Given the description of an element on the screen output the (x, y) to click on. 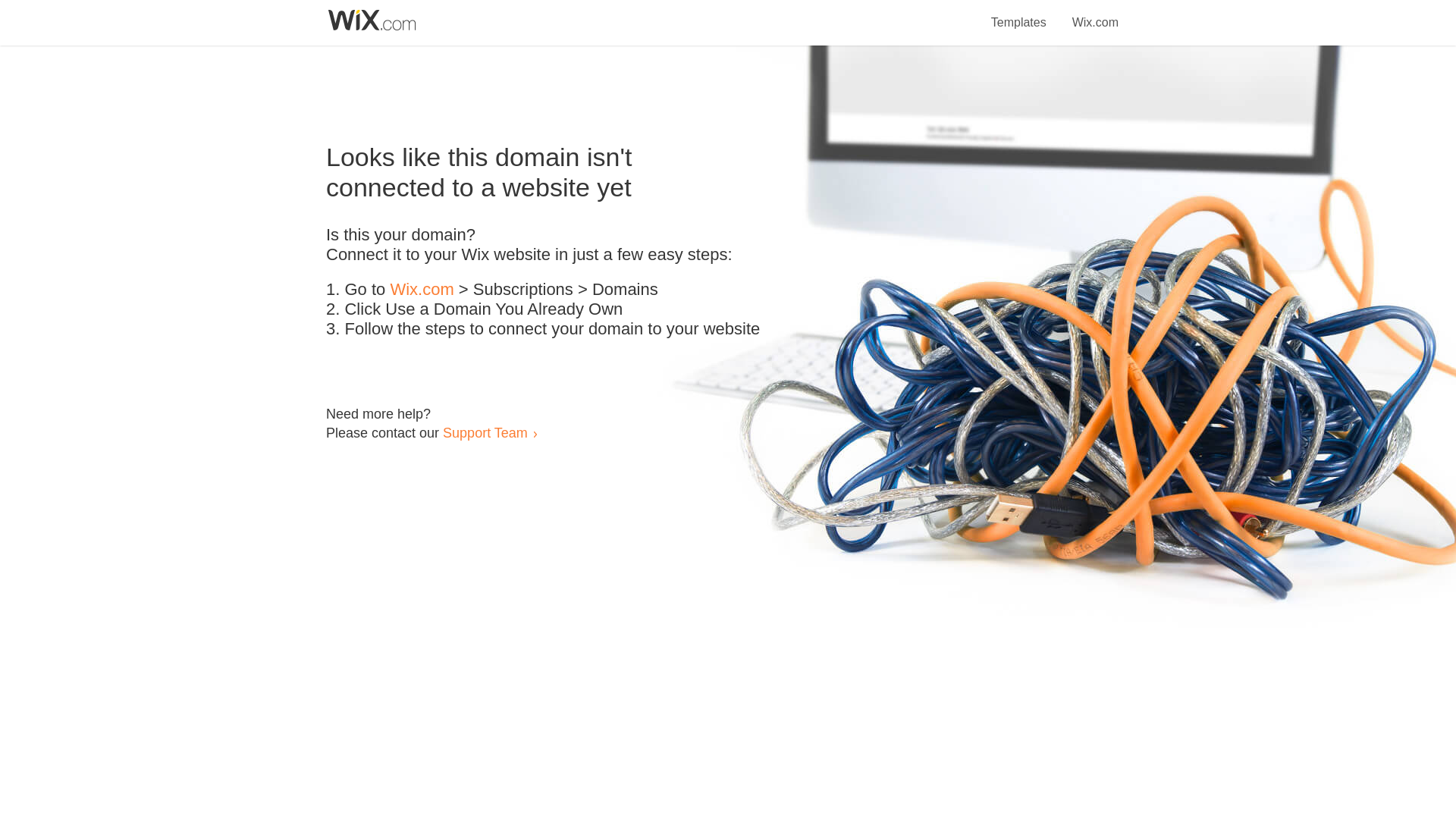
Templates (1018, 14)
Support Team (484, 432)
Wix.com (1095, 14)
Wix.com (421, 289)
